Given the description of an element on the screen output the (x, y) to click on. 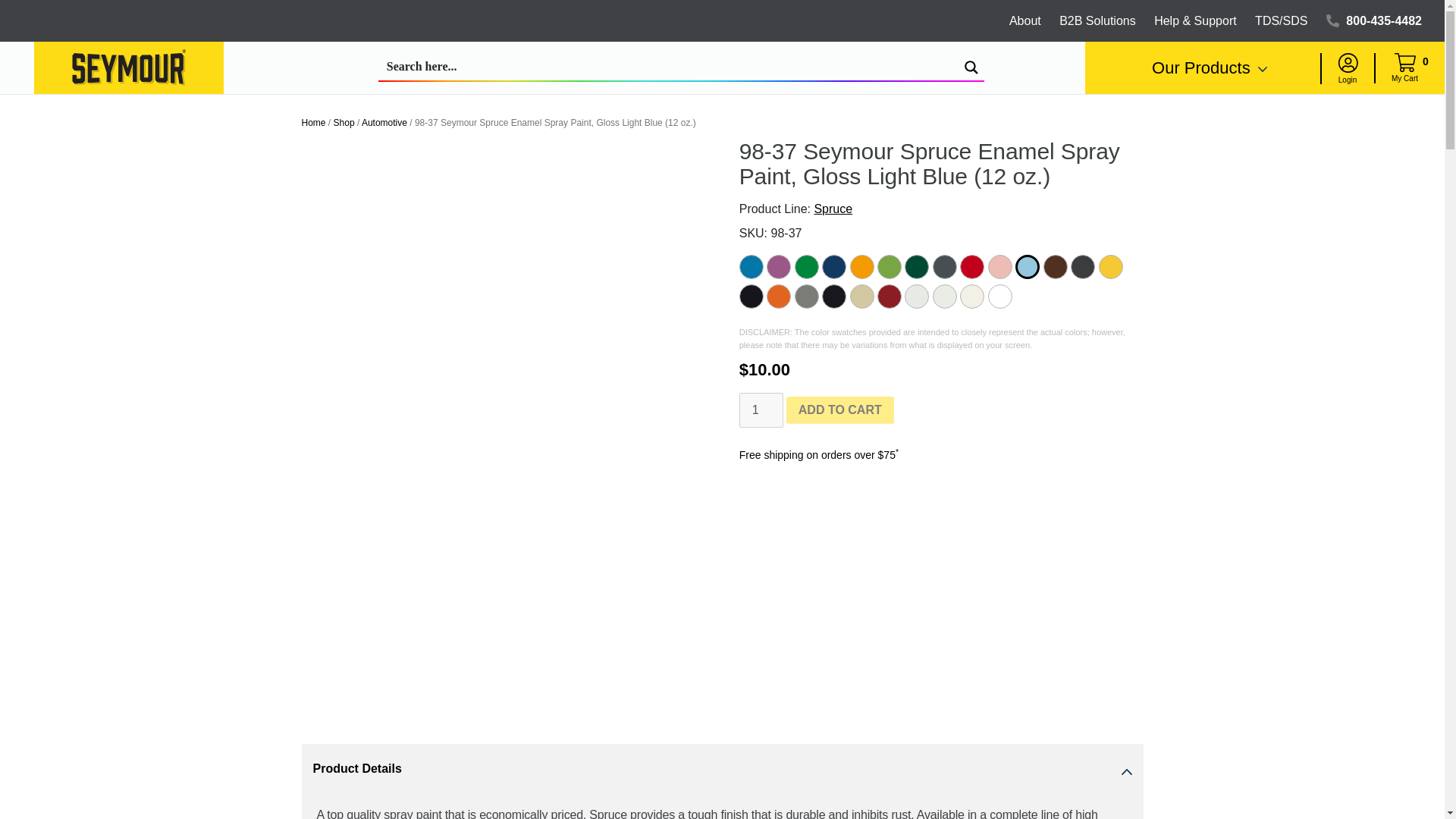
Our Products (1209, 67)
1 (761, 410)
800-435-4482 (1381, 19)
B2B Solutions (1097, 19)
View your shopping cart (1404, 67)
About (1025, 19)
